Given the description of an element on the screen output the (x, y) to click on. 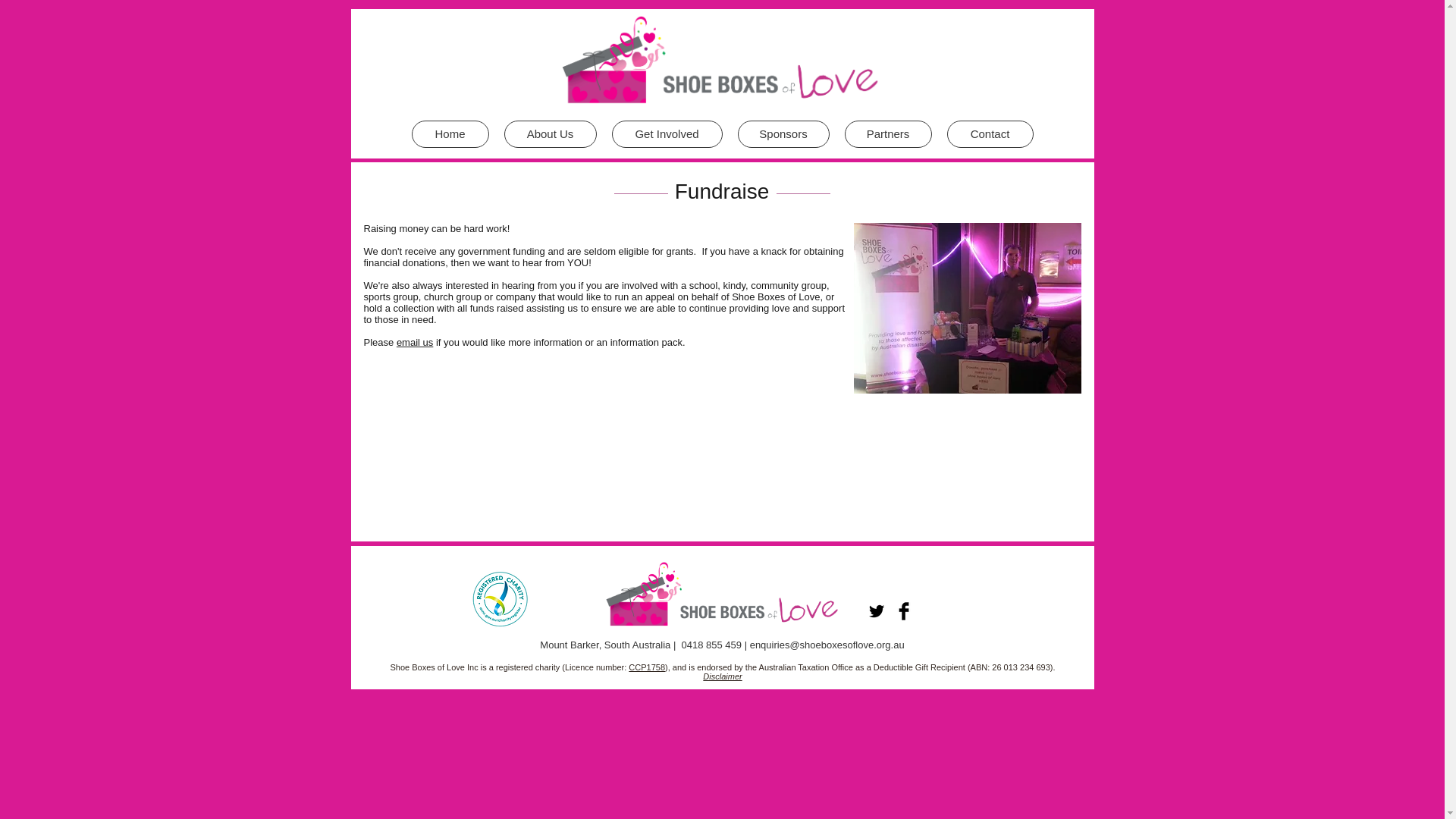
CCP1758 (646, 666)
email us (414, 342)
Sponsors (782, 134)
Contact (989, 134)
Home (448, 134)
Partners (887, 134)
About Us (549, 134)
Disclaimer (722, 675)
